Given the description of an element on the screen output the (x, y) to click on. 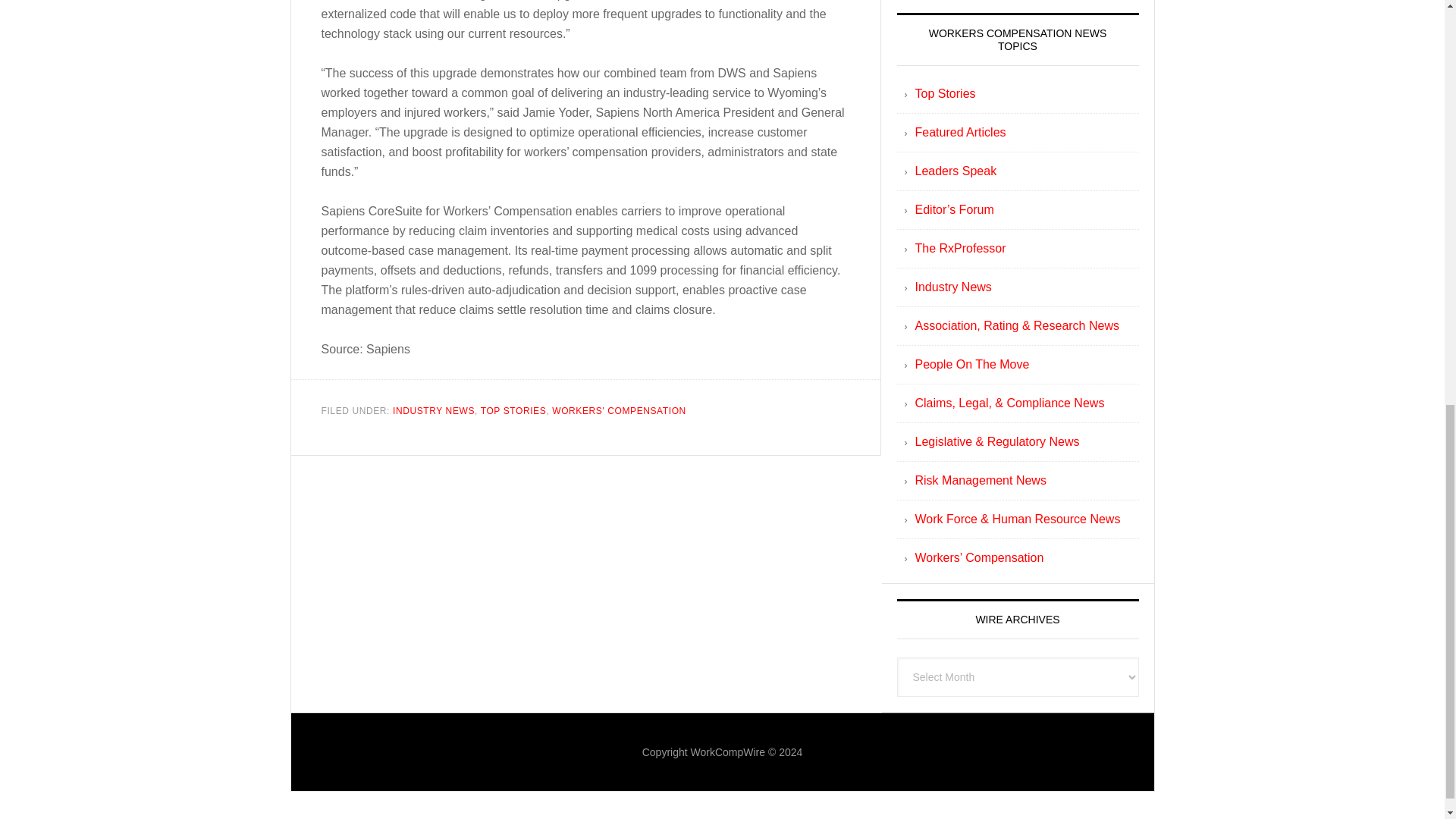
Industry News (952, 286)
People On The Move (971, 364)
INDUSTRY NEWS (433, 409)
The RxProfessor (960, 247)
TOP STORIES (513, 409)
WORKERS' COMPENSATION (618, 409)
Featured Articles (960, 132)
Top Stories (944, 92)
Leaders Speak (954, 170)
